Given the description of an element on the screen output the (x, y) to click on. 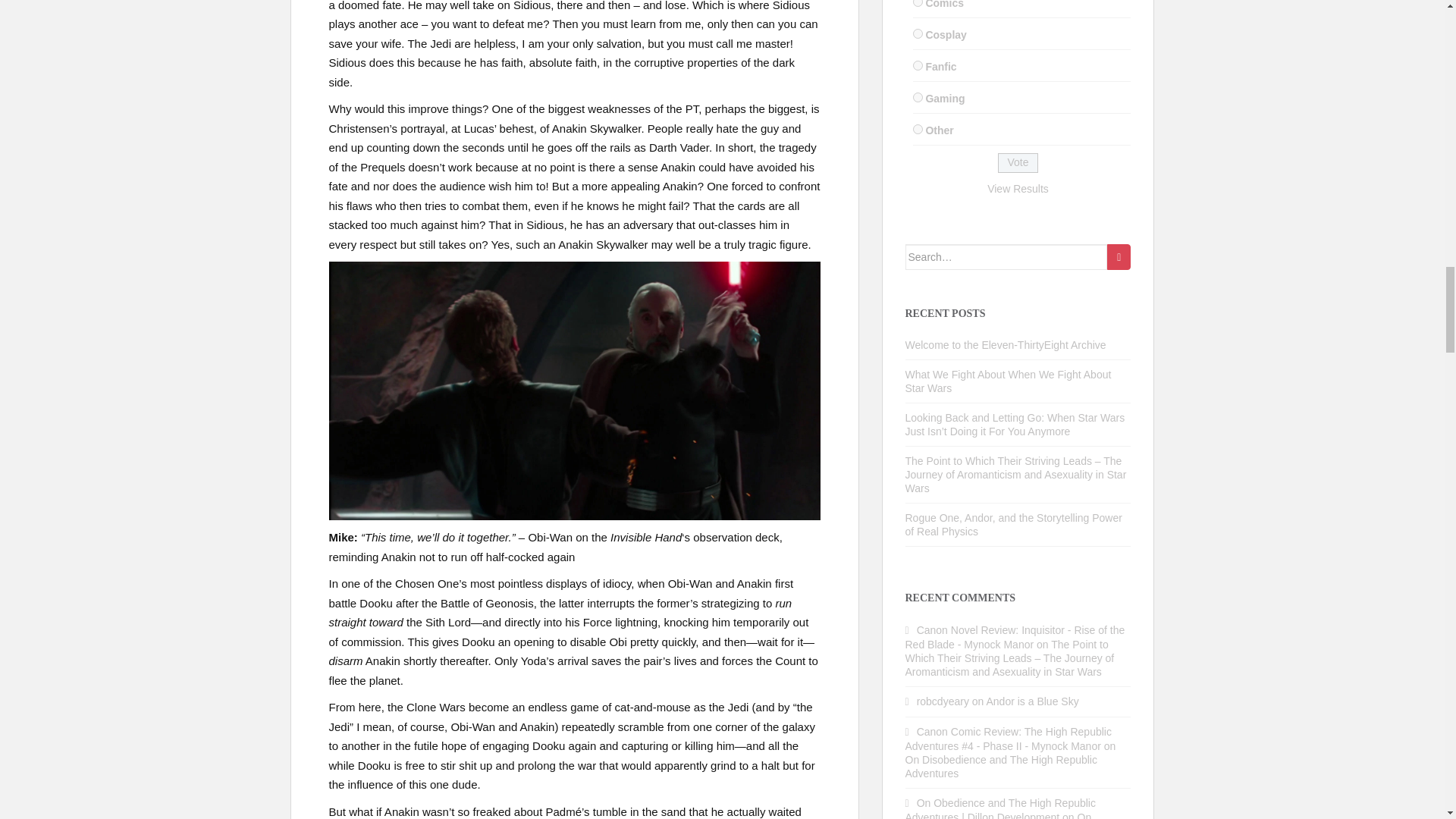
81 (917, 65)
82 (917, 97)
80 (917, 33)
   Vote    (1017, 162)
79 (917, 3)
83 (917, 129)
